Given the description of an element on the screen output the (x, y) to click on. 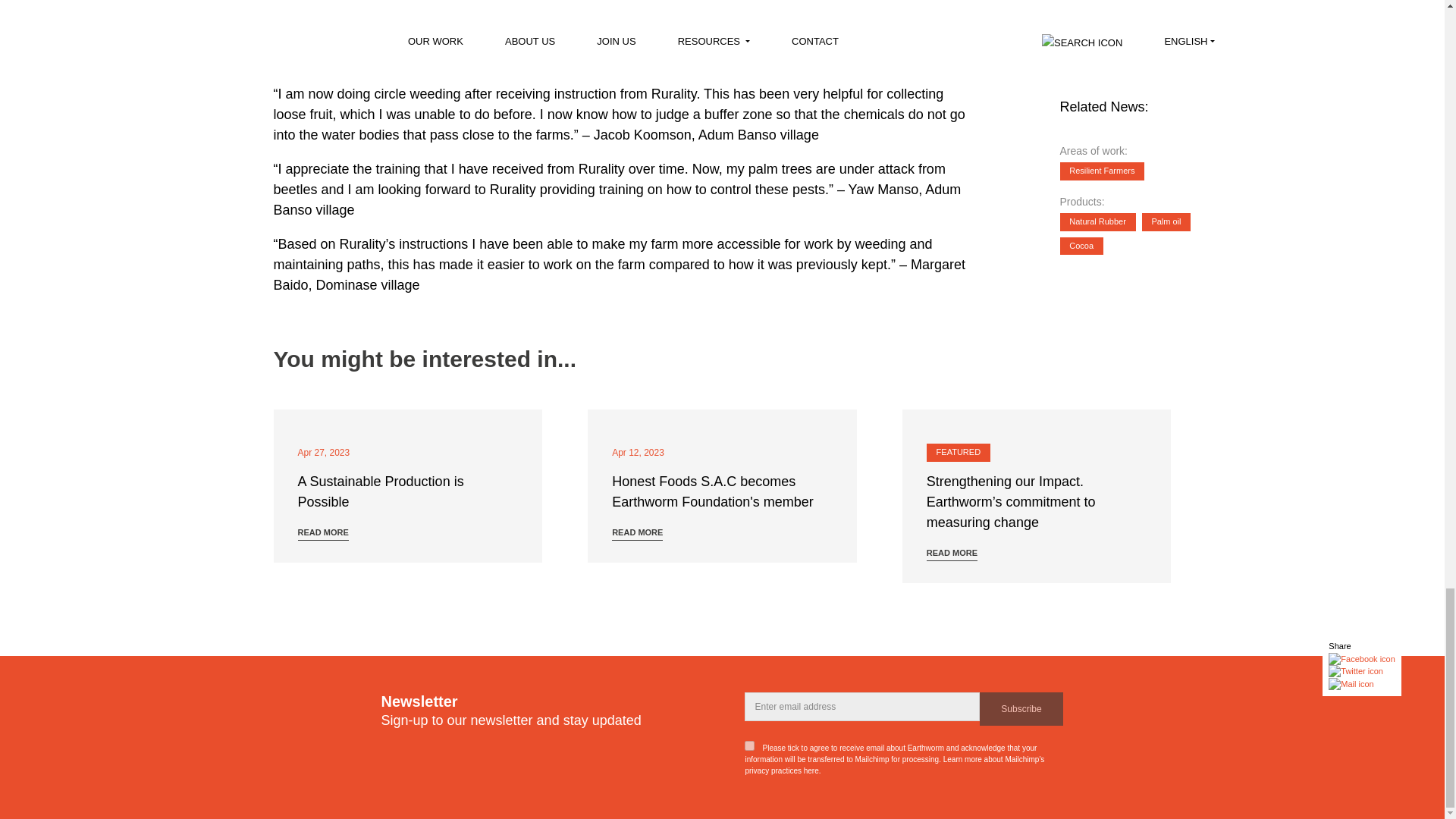
Y (749, 746)
READ MORE (322, 533)
READ MORE (636, 533)
Subscribe (1021, 708)
READ MORE (951, 554)
